Given the description of an element on the screen output the (x, y) to click on. 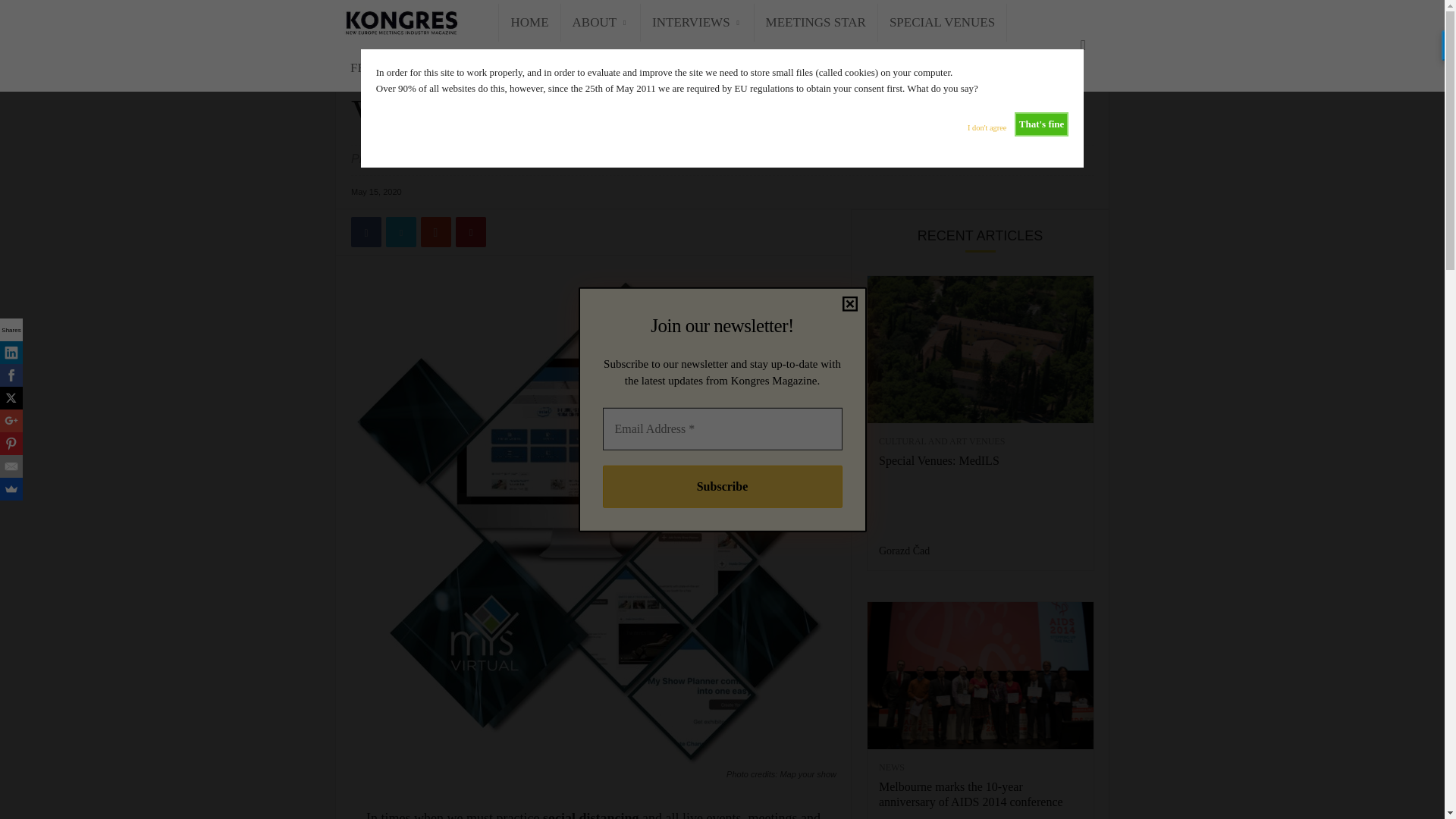
HOME (529, 22)
INTERVIEWS (697, 22)
SPECIAL VENUES (941, 22)
Subscribe (721, 485)
FROM THE EDITOR (407, 67)
View all posts in TIPS FOR EVENTS (418, 62)
Email Address (721, 428)
ABOUT (600, 22)
That's fine (1041, 124)
Home (360, 62)
I don't agree (987, 123)
MEETINGS STAR (815, 22)
